Given the description of an element on the screen output the (x, y) to click on. 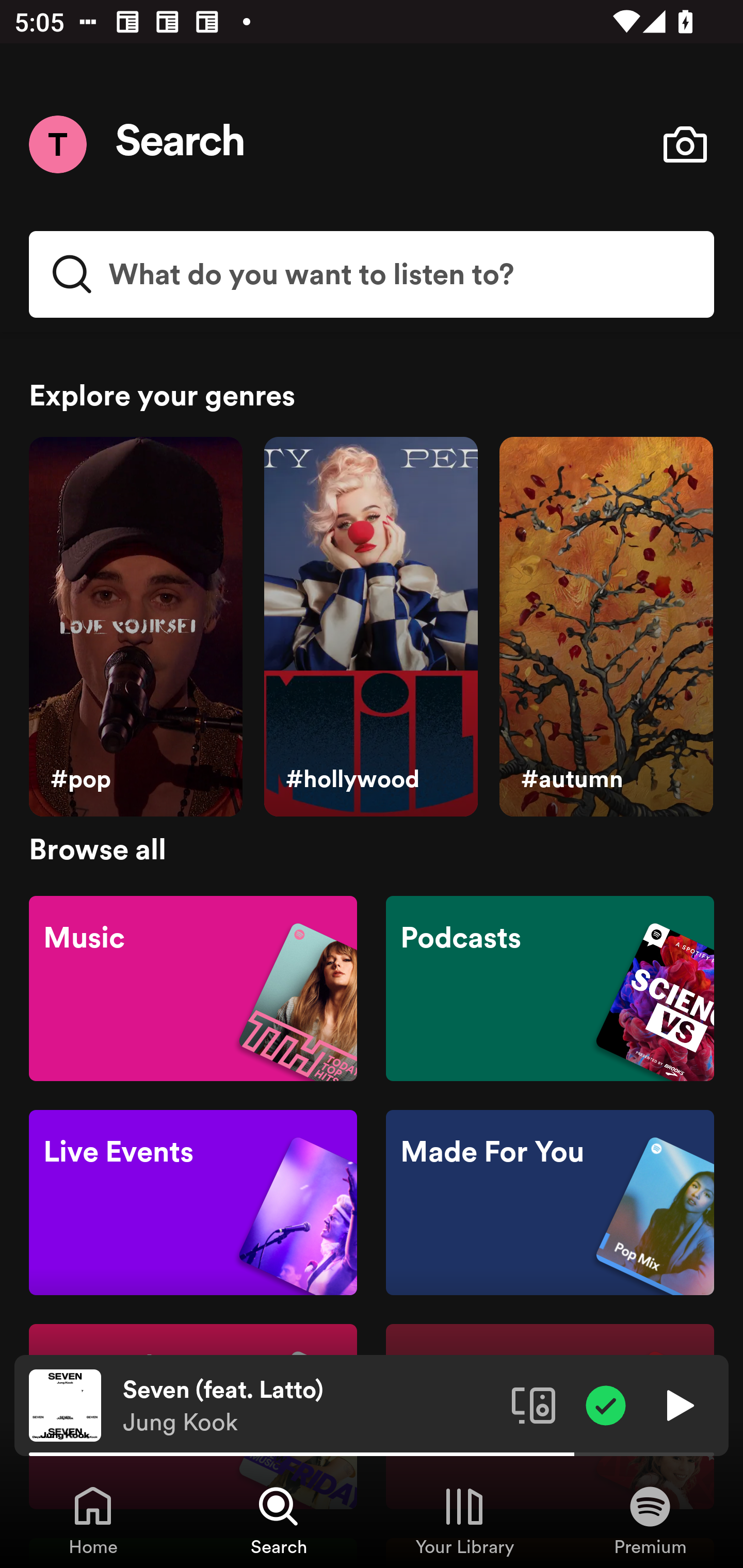
Menu (57, 144)
Open camera (685, 145)
Search (180, 144)
#pop (135, 626)
#hollywood (370, 626)
#autumn (606, 626)
Music (192, 987)
Podcasts (549, 987)
Live Events (192, 1202)
Made For You (549, 1202)
Seven (feat. Latto) Jung Kook (309, 1405)
The cover art of the currently playing track (64, 1404)
Connect to a device. Opens the devices menu (533, 1404)
Item added (605, 1404)
Play (677, 1404)
Home, Tab 1 of 4 Home Home (92, 1519)
Search, Tab 2 of 4 Search Search (278, 1519)
Your Library, Tab 3 of 4 Your Library Your Library (464, 1519)
Premium, Tab 4 of 4 Premium Premium (650, 1519)
